Given the description of an element on the screen output the (x, y) to click on. 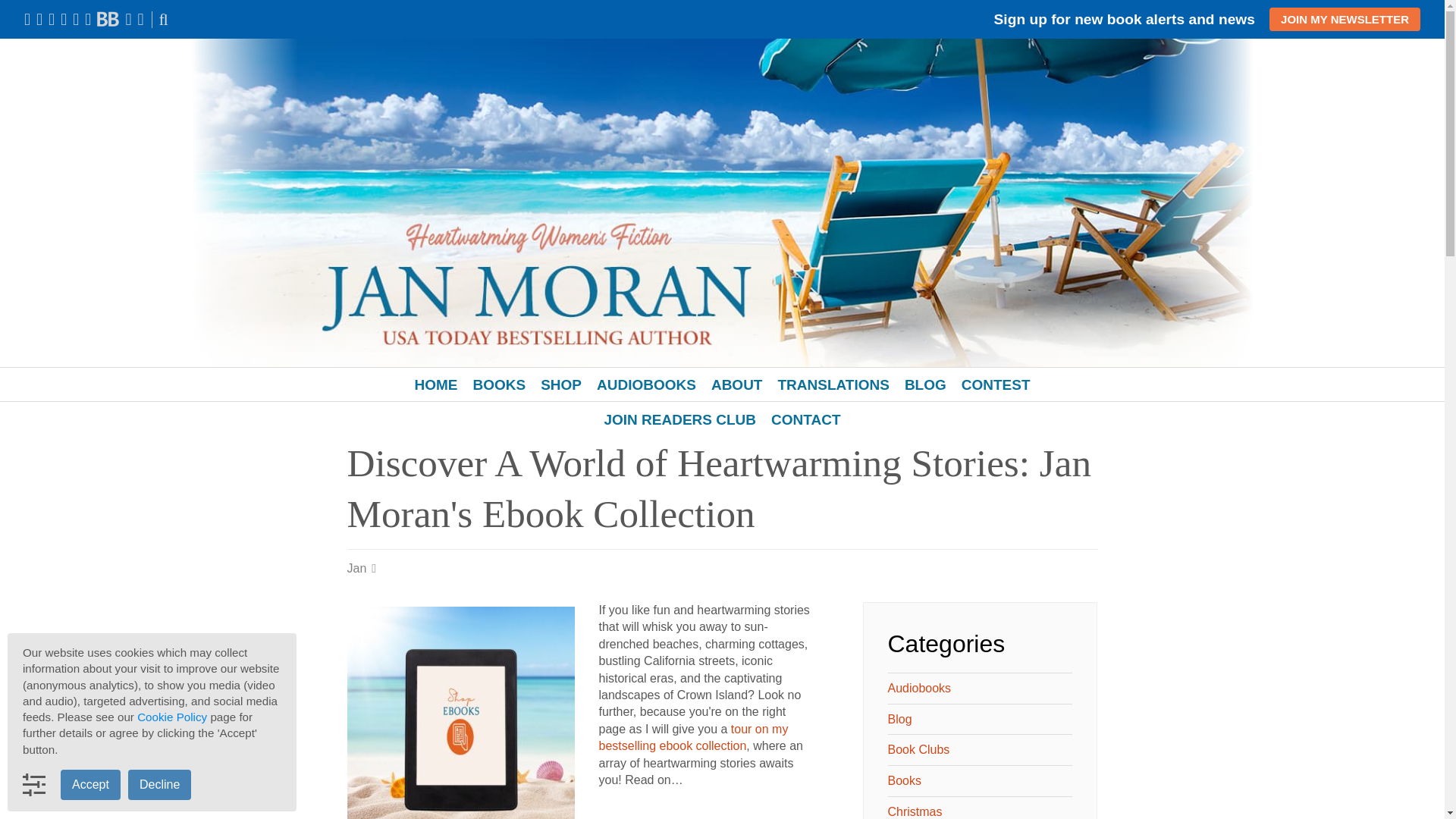
Follow on Facebook (27, 18)
SHOP (560, 384)
Follow on Good Reads (87, 18)
Follow on Instagram (63, 18)
CONTACT (804, 419)
Follow on SoundCloud (127, 18)
BOOKS (498, 384)
ABOUT (736, 384)
AUDIOBOOKS (646, 384)
JOIN MY NEWSLETTER (1345, 19)
Follow on Pinterest (75, 18)
HOME (435, 384)
Join Facebook Group (39, 18)
CONTEST (995, 384)
TRANSLATIONS (833, 384)
